Given the description of an element on the screen output the (x, y) to click on. 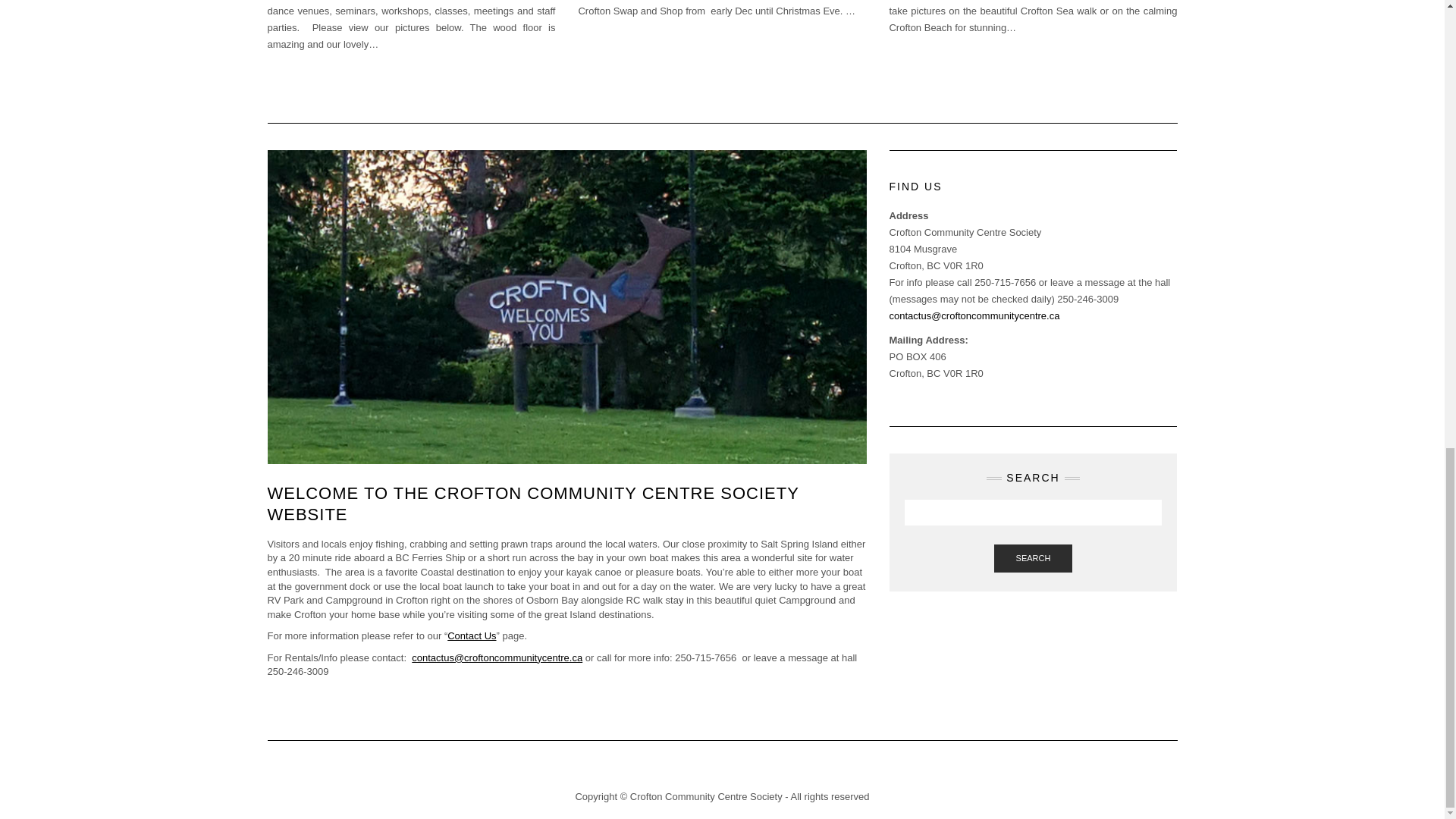
Contact Us (471, 635)
SEARCH (1033, 558)
